Given the description of an element on the screen output the (x, y) to click on. 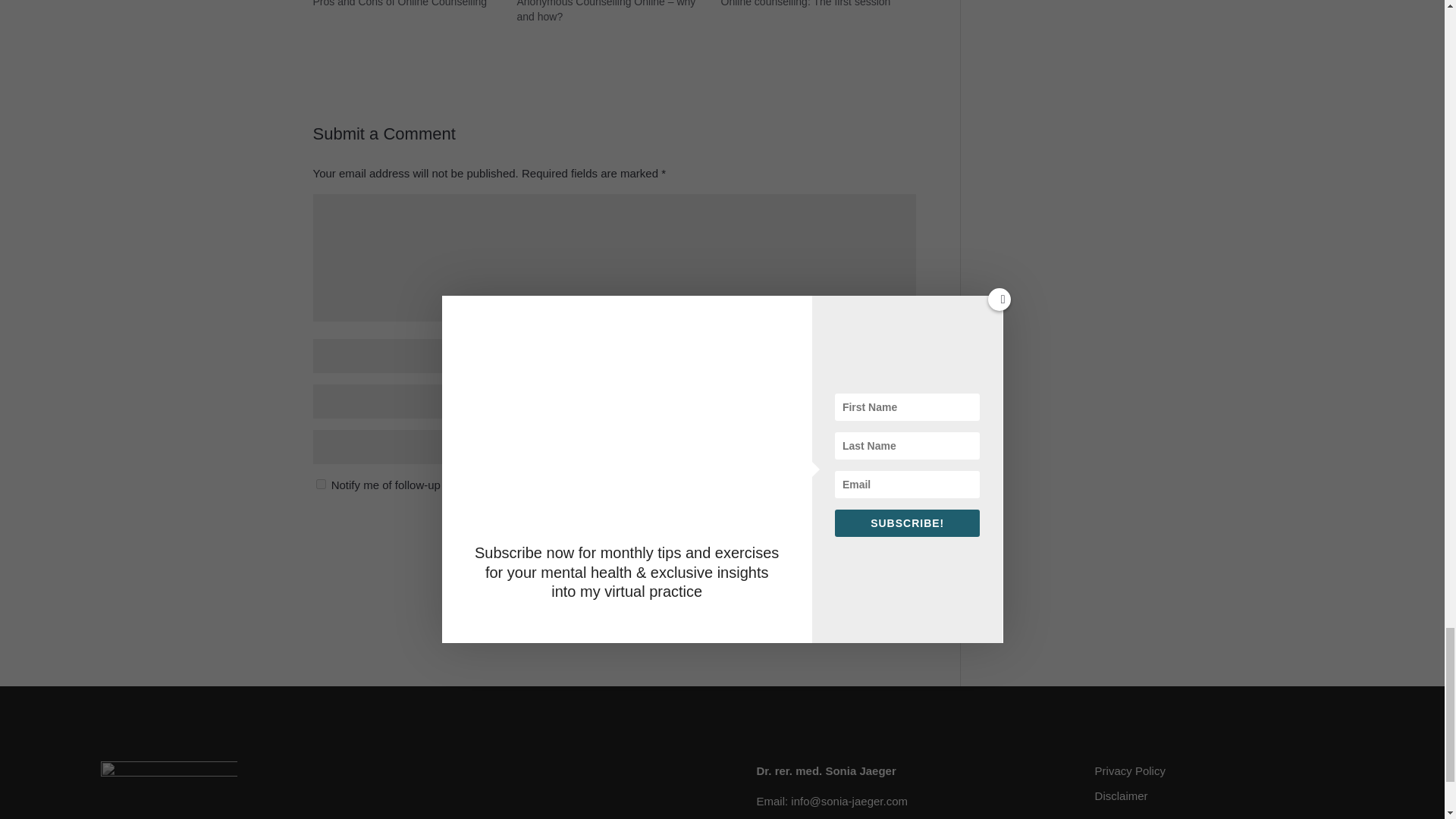
Pros and Cons of Online Counselling (399, 3)
subscribe (319, 483)
Online counselling: The first session (804, 3)
Submit Comment (828, 535)
